Given the description of an element on the screen output the (x, y) to click on. 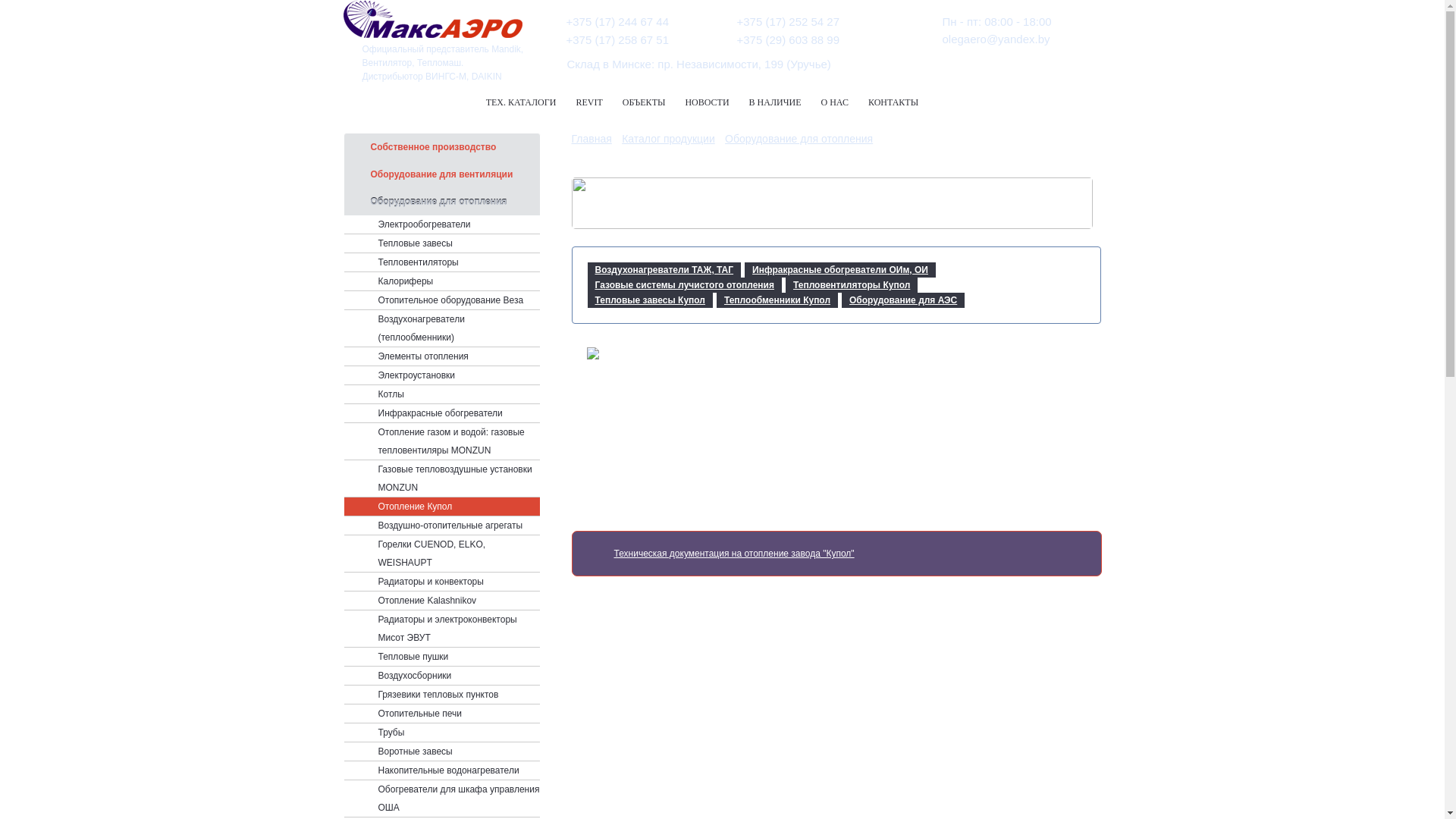
+375 (17) 252 54 27 Element type: text (788, 21)
+375 (17) 244 67 44 Element type: text (616, 21)
REVIT Element type: text (588, 102)
olegaero@yandex.by Element type: text (995, 38)
+375 (29) 603 88 99 Element type: text (788, 39)
+375 (17) 258 67 51 Element type: text (616, 39)
